Given the description of an element on the screen output the (x, y) to click on. 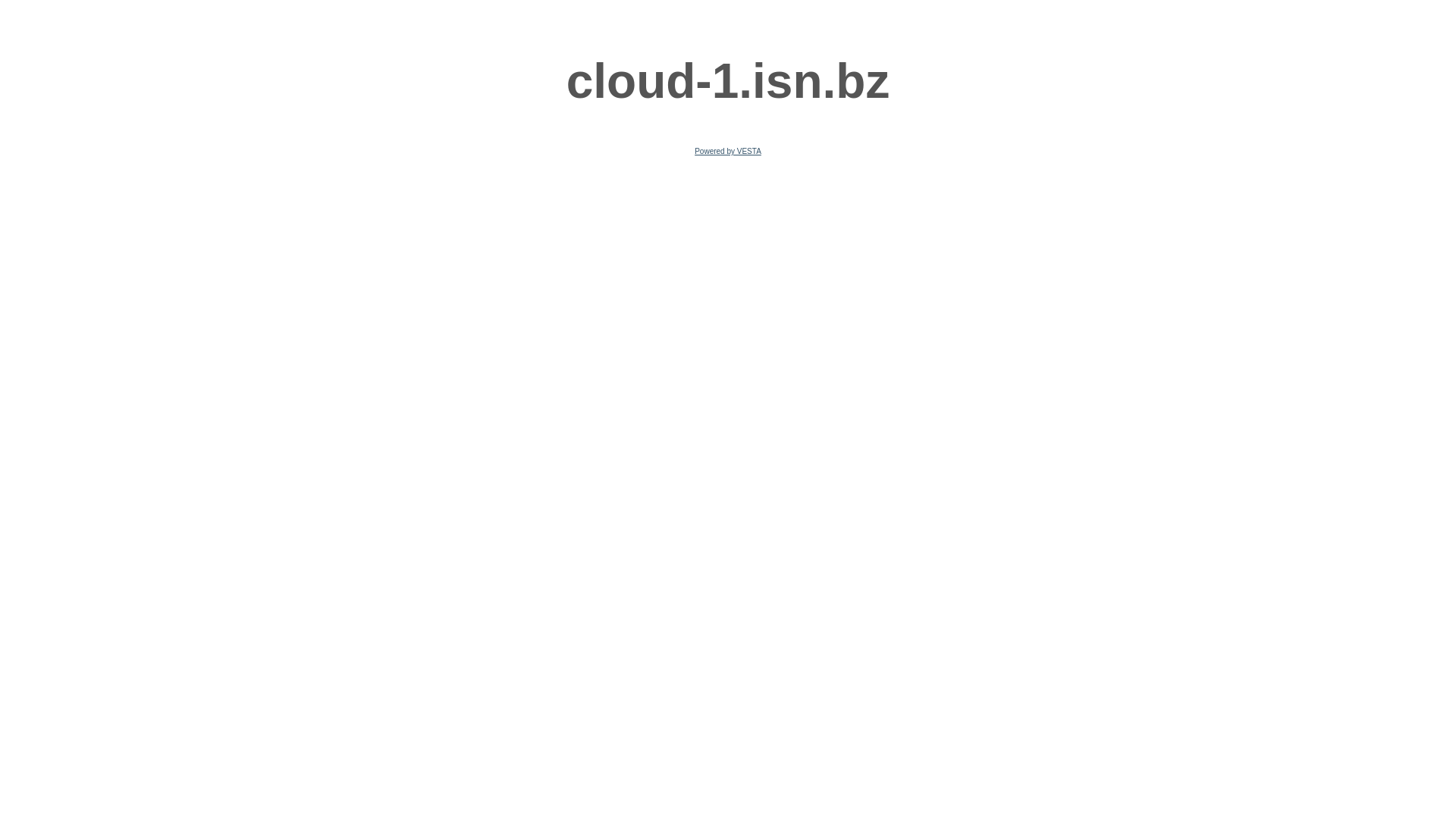
Powered by VESTA Element type: text (727, 151)
